Given the description of an element on the screen output the (x, y) to click on. 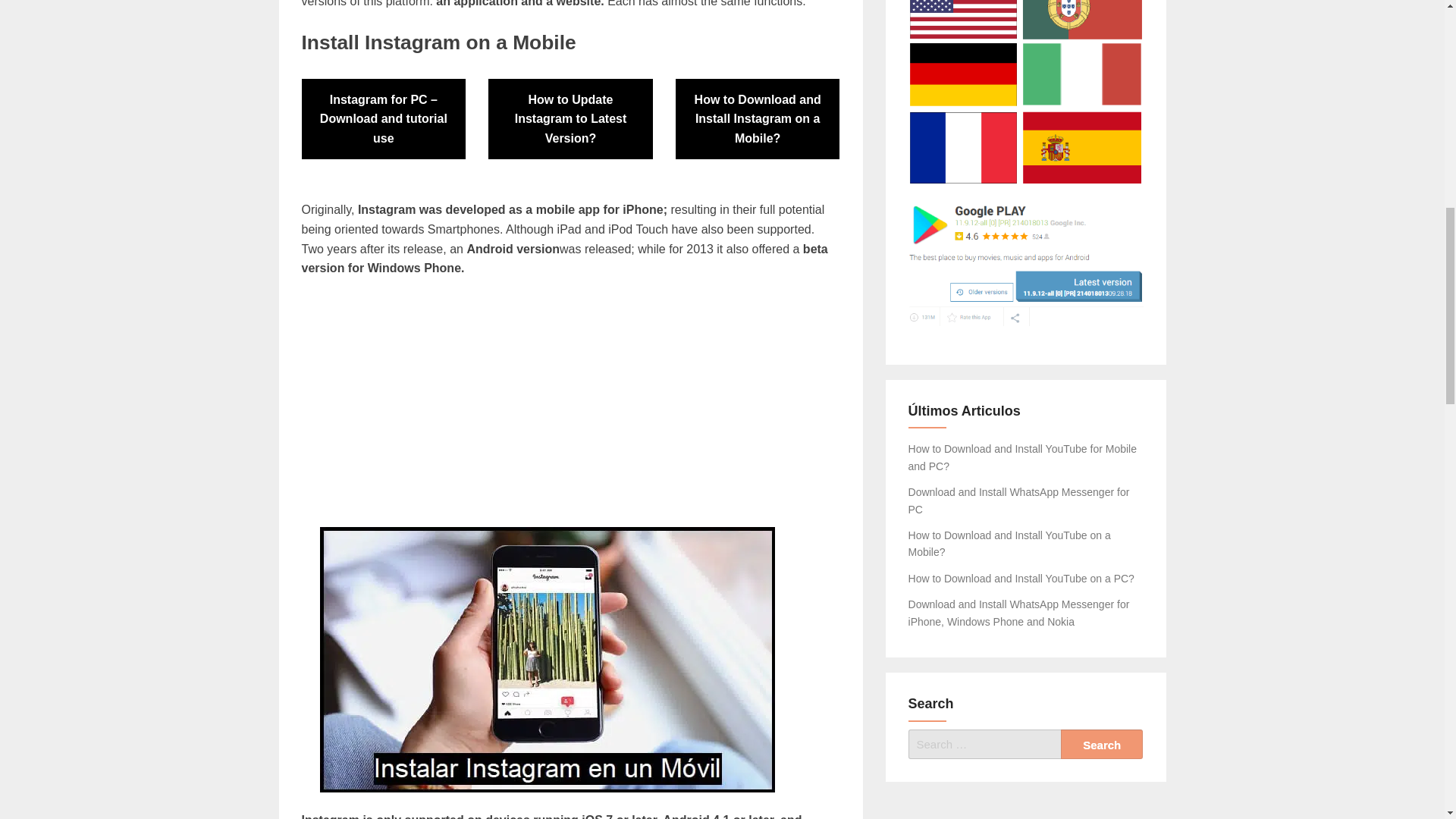
How to Download and Install Instagram on a Mobile? (757, 118)
Search (1101, 744)
How to Download and Install YouTube for Mobile and PC? (1022, 457)
Download and Install WhatsApp Messenger for PC (1018, 500)
Search (1101, 744)
How to Update Instagram to Latest Version? (569, 118)
Advertisement (570, 402)
